Given the description of an element on the screen output the (x, y) to click on. 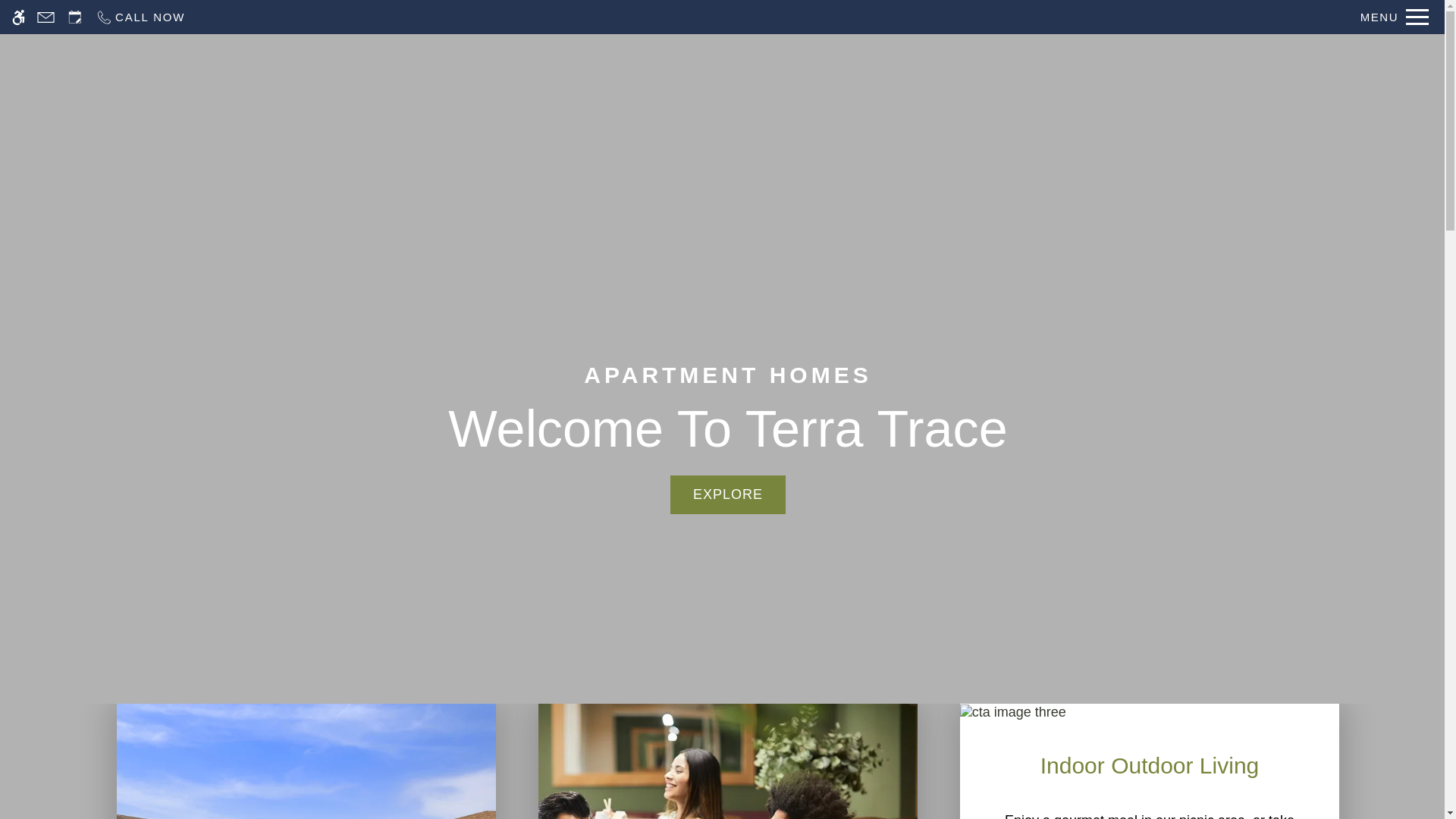
EXPLORE (727, 761)
CALL NOW (727, 494)
Contact page (140, 17)
Accessible screen reader (45, 17)
Request an appointment (18, 17)
MENU (74, 17)
Open Full Menu (1394, 17)
